Given the description of an element on the screen output the (x, y) to click on. 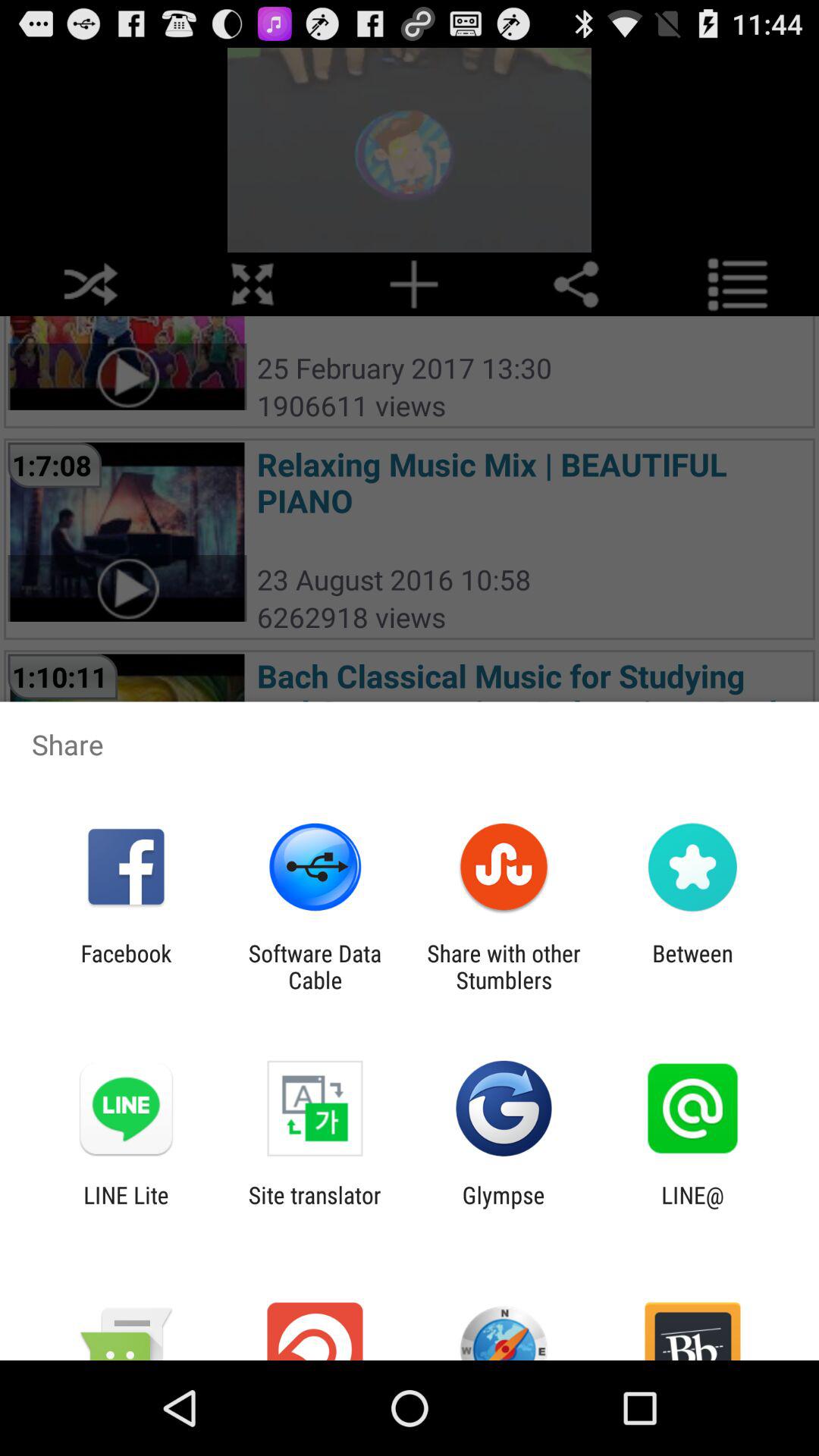
open icon next to the line@ icon (503, 1208)
